Given the description of an element on the screen output the (x, y) to click on. 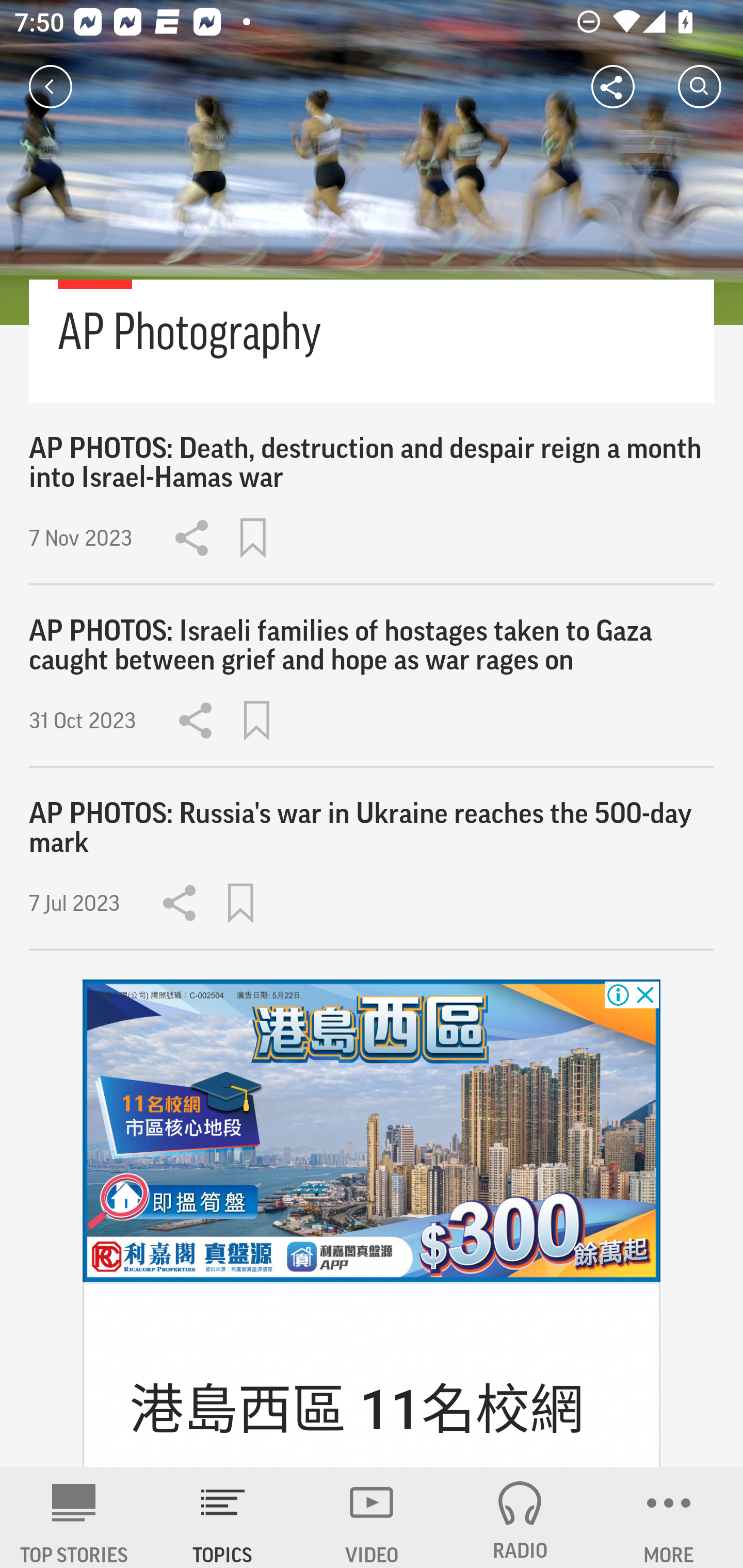
港島西區 11名校網 (356, 1409)
AP News TOP STORIES (74, 1517)
TOPICS (222, 1517)
VIDEO (371, 1517)
RADIO (519, 1517)
MORE (668, 1517)
